Given the description of an element on the screen output the (x, y) to click on. 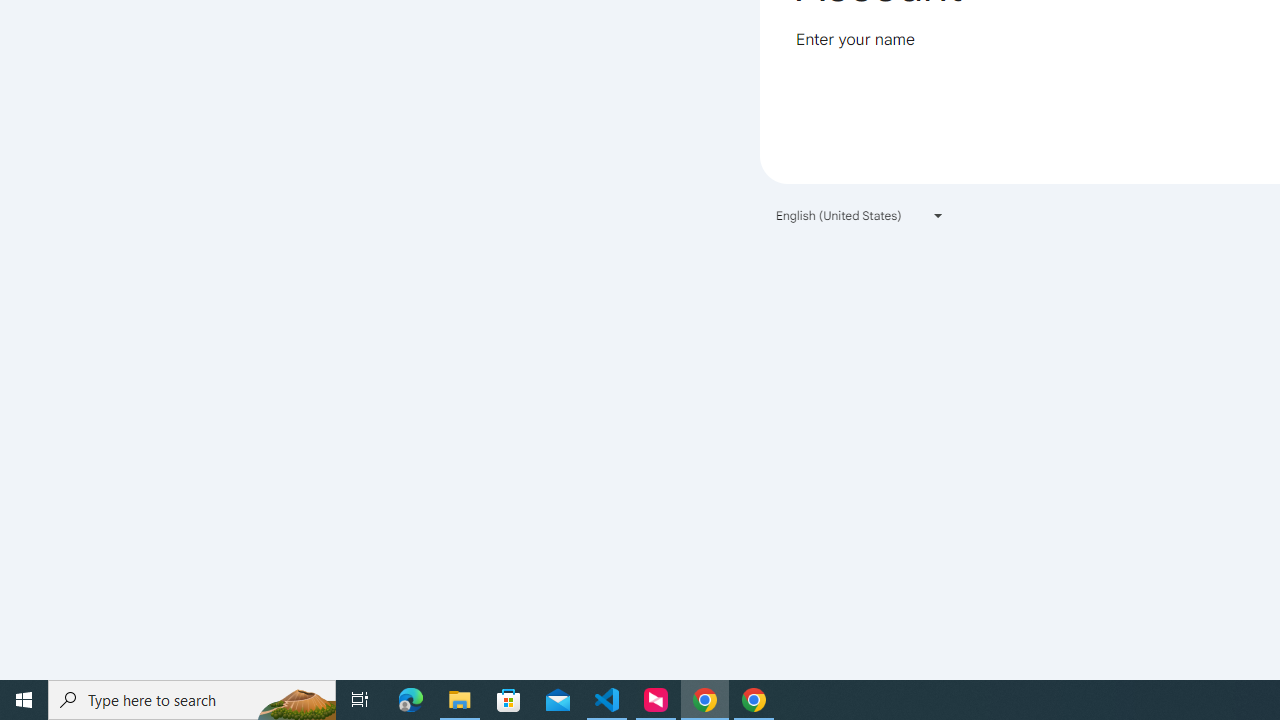
English (United States) (860, 214)
